Given the description of an element on the screen output the (x, y) to click on. 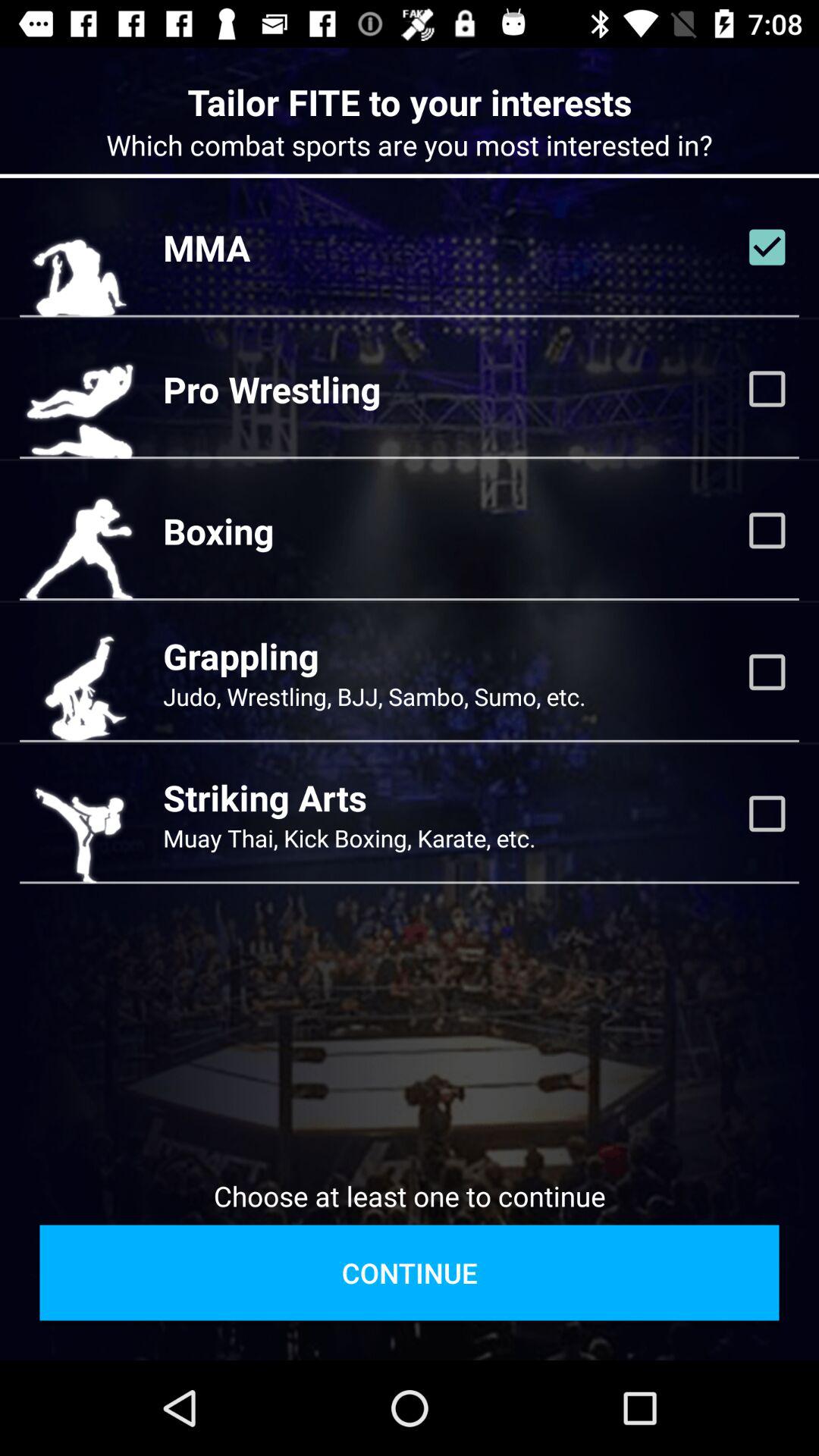
select option (767, 530)
